Given the description of an element on the screen output the (x, y) to click on. 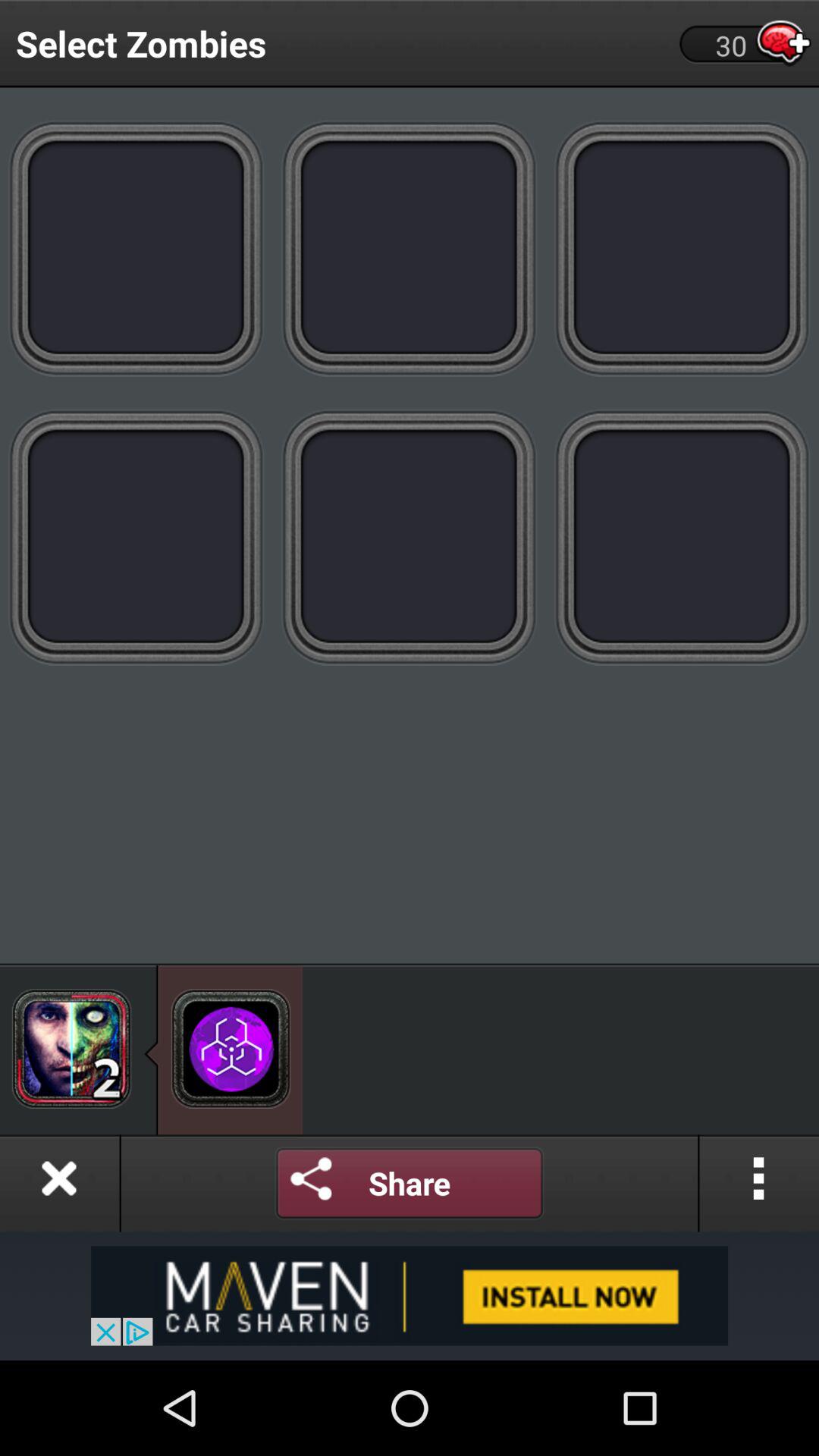
view share options (311, 1183)
